Given the description of an element on the screen output the (x, y) to click on. 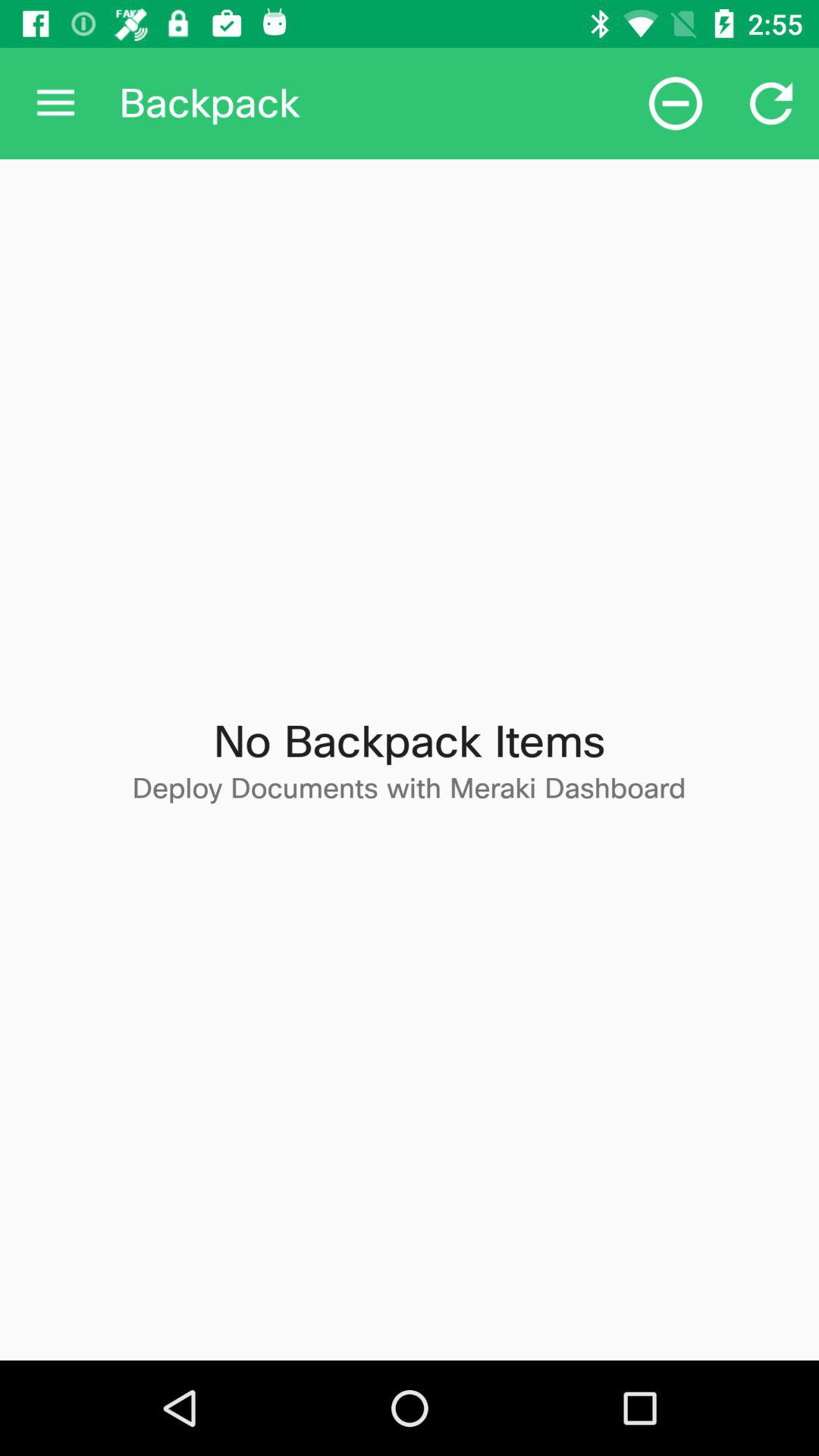
click icon to the left of backpack item (55, 103)
